Given the description of an element on the screen output the (x, y) to click on. 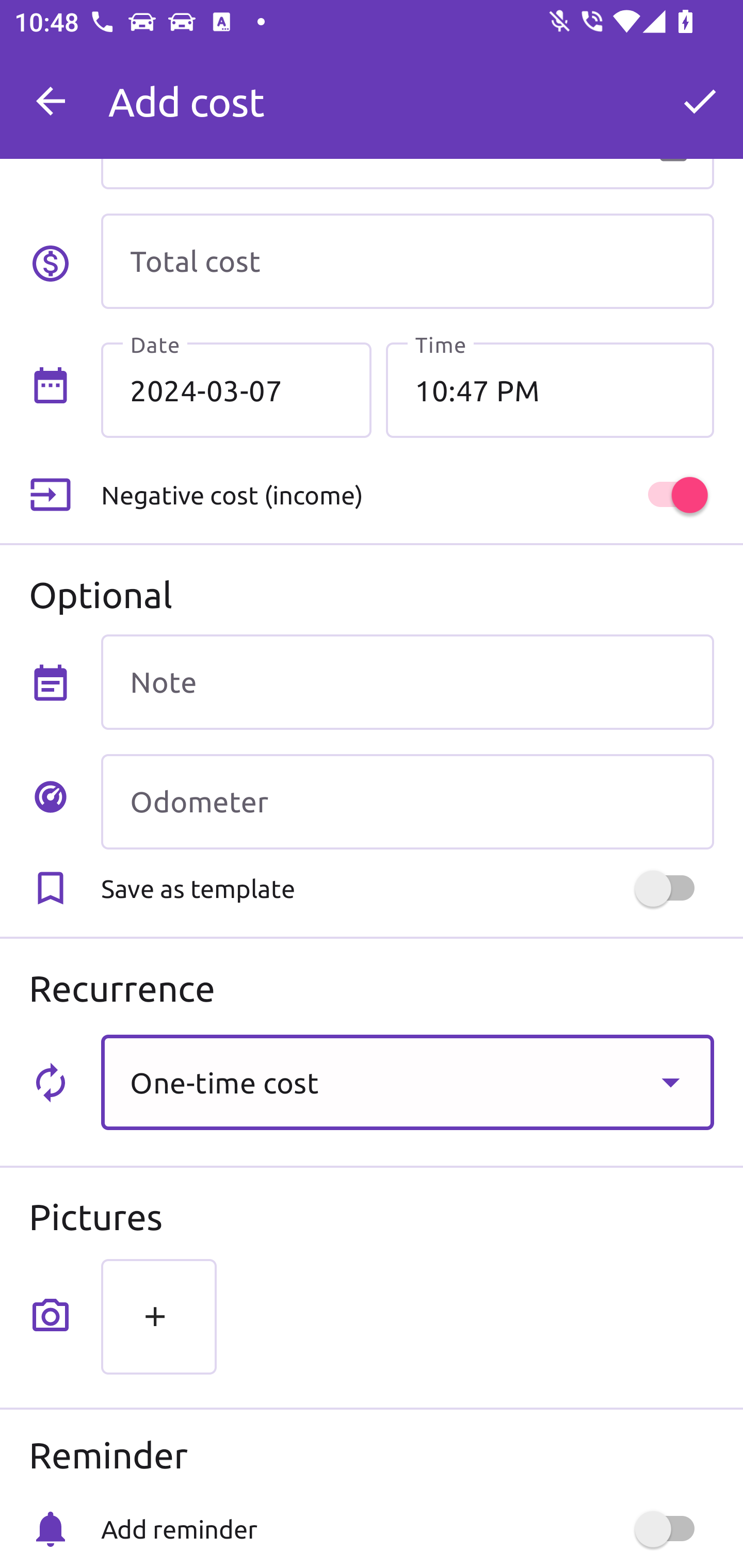
M My Car 0 km (407, 92)
Navigate up (50, 101)
OK (699, 101)
Total cost  (407, 260)
2024-03-07 (236, 389)
10:47 PM (549, 389)
Negative cost (income) (407, 494)
Note (407, 682)
Odometer (407, 801)
Save as template (407, 887)
One-time cost (407, 1082)
Show dropdown menu (670, 1081)
Add reminder (407, 1529)
